Given the description of an element on the screen output the (x, y) to click on. 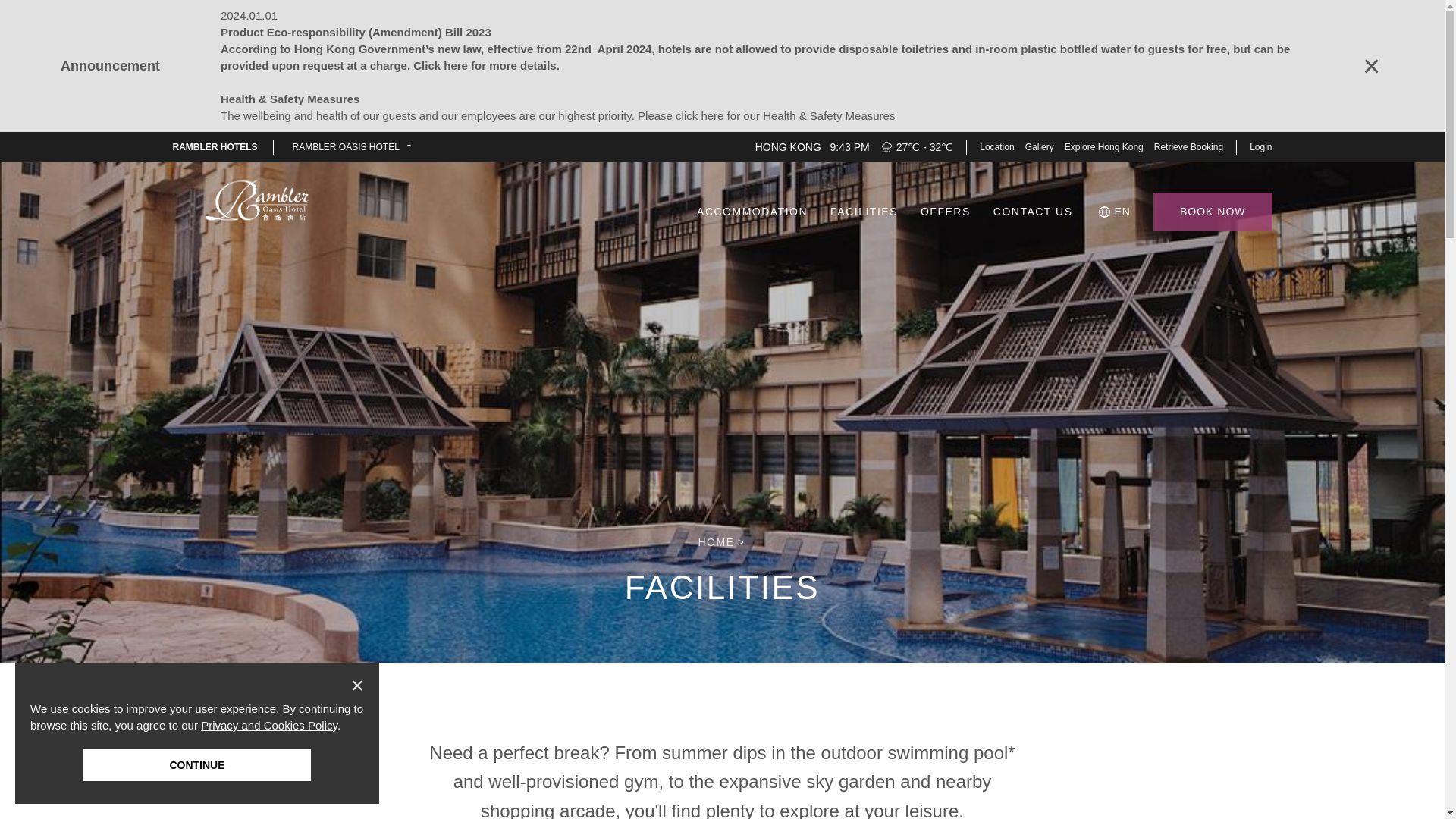
FACILITIES (863, 211)
Retrieve Booking (1188, 146)
Gallery (1039, 146)
Explore Hong Kong (1103, 146)
OFFERS (944, 211)
Login (1261, 146)
CONTACT US (1032, 211)
BOOK NOW (1212, 211)
here (711, 115)
RAMBLER HOTELS (214, 146)
